Given the description of an element on the screen output the (x, y) to click on. 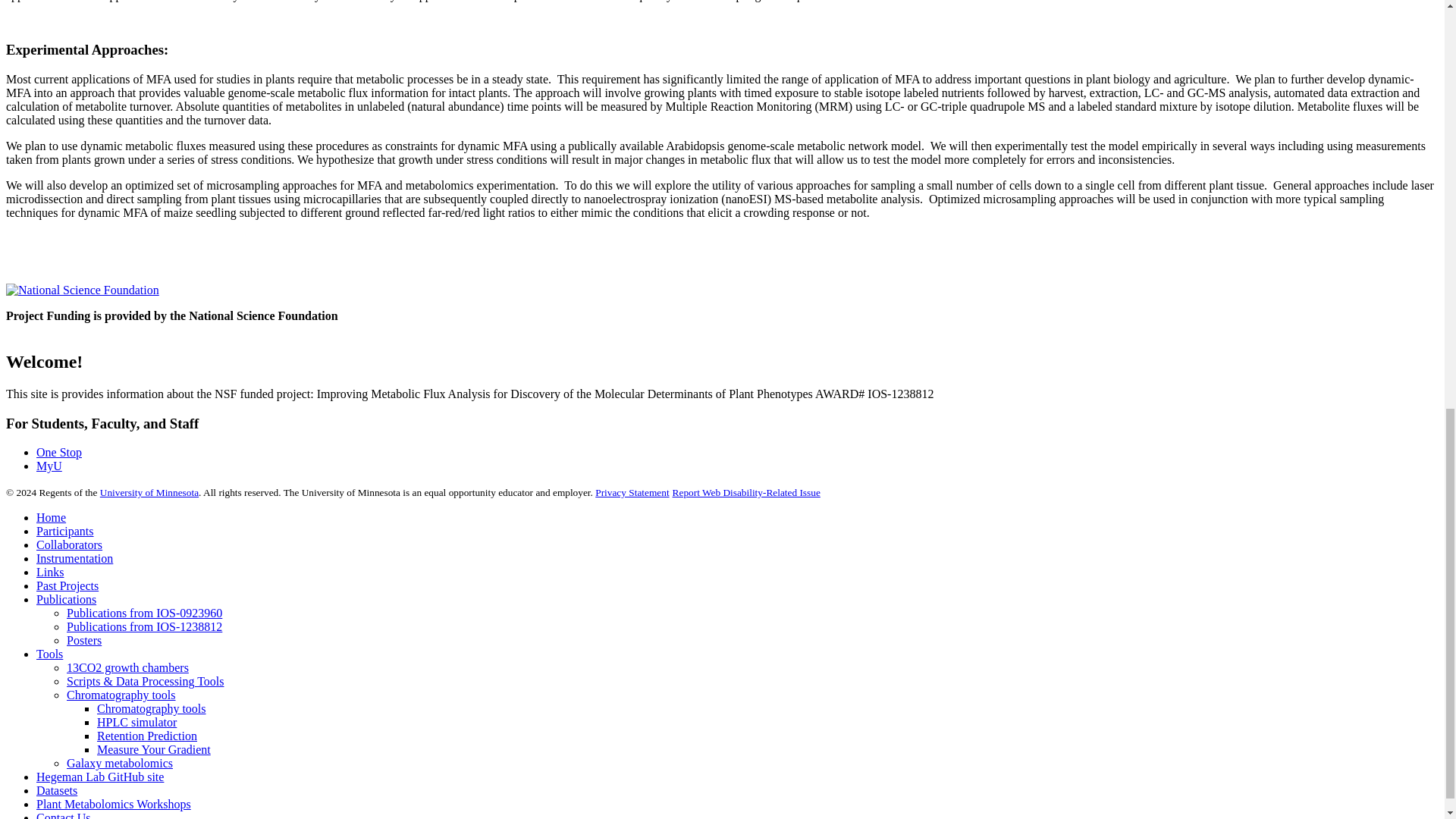
Report Web Disability-Related Issue (746, 491)
Home (50, 517)
University of Minnesota (149, 491)
Privacy Statement (631, 491)
logo-nsf-300x300.gif (81, 290)
MyU (49, 465)
Participants (65, 530)
One Stop (58, 451)
